Given the description of an element on the screen output the (x, y) to click on. 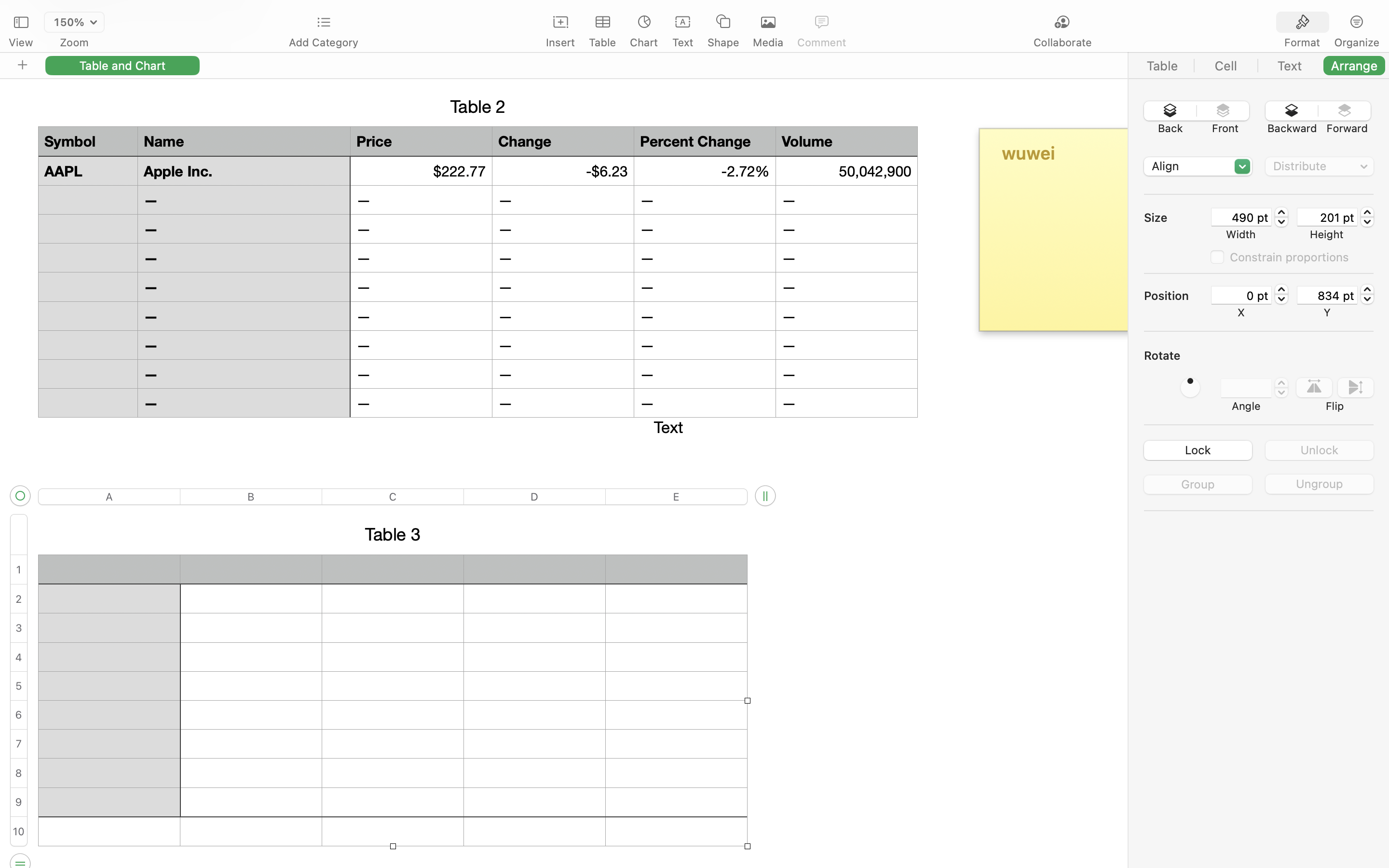
0.0 Element type: AXSlider (1189, 387)
0.0 Element type: AXIncrementor (1281, 293)
Angle Element type: AXStaticText (1245, 405)
490.0 Element type: AXIncrementor (1281, 216)
